Given the description of an element on the screen output the (x, y) to click on. 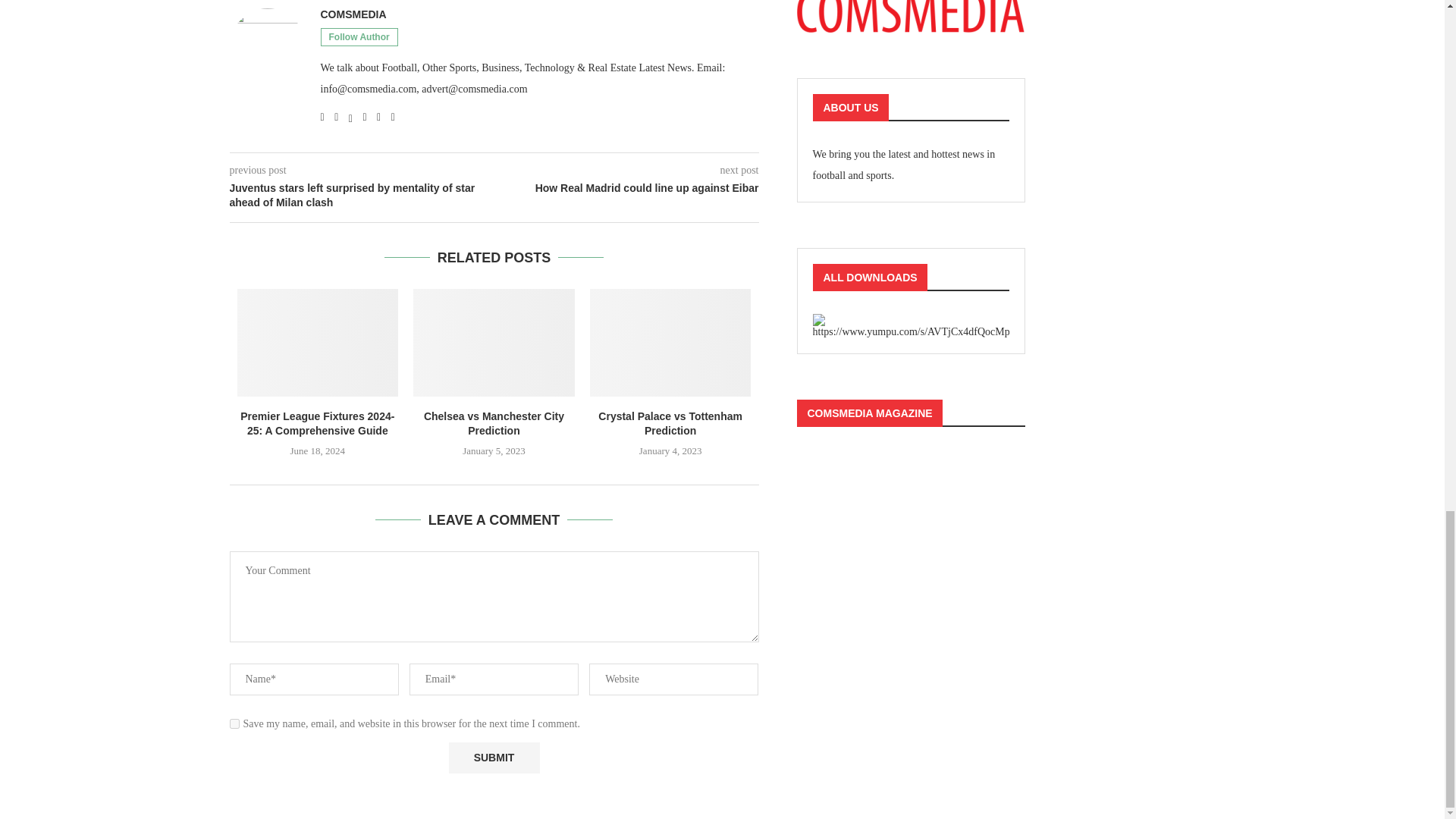
Submit (494, 757)
Premier League Fixtures 2024-25: A Comprehensive Guide (316, 342)
Chelsea vs Manchester City Prediction (494, 342)
yes (233, 723)
Author comsmedia (352, 14)
Crystal Palace vs Tottenham Prediction (670, 342)
